Given the description of an element on the screen output the (x, y) to click on. 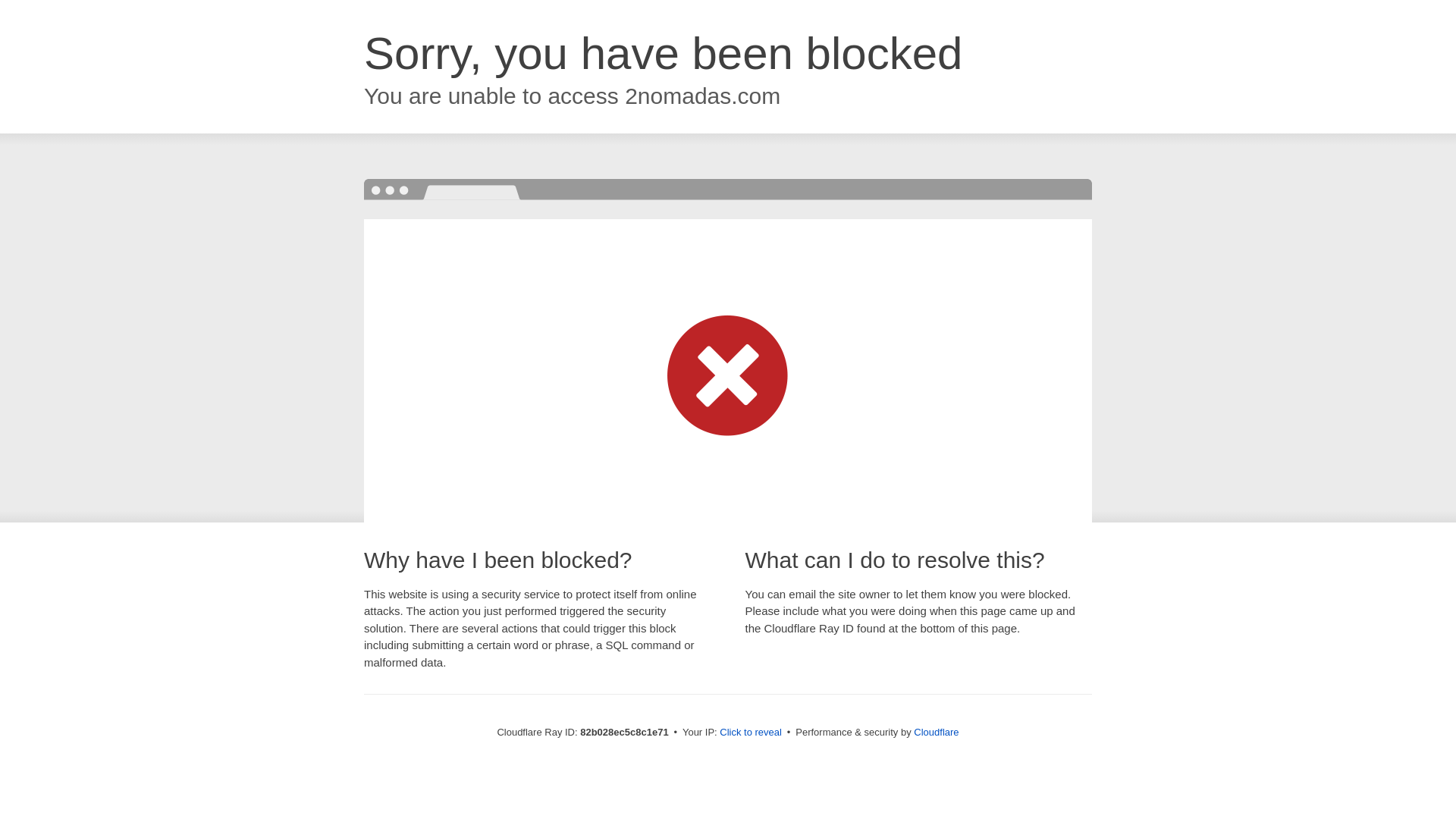
Click to reveal Element type: text (750, 732)
Cloudflare Element type: text (935, 731)
